Given the description of an element on the screen output the (x, y) to click on. 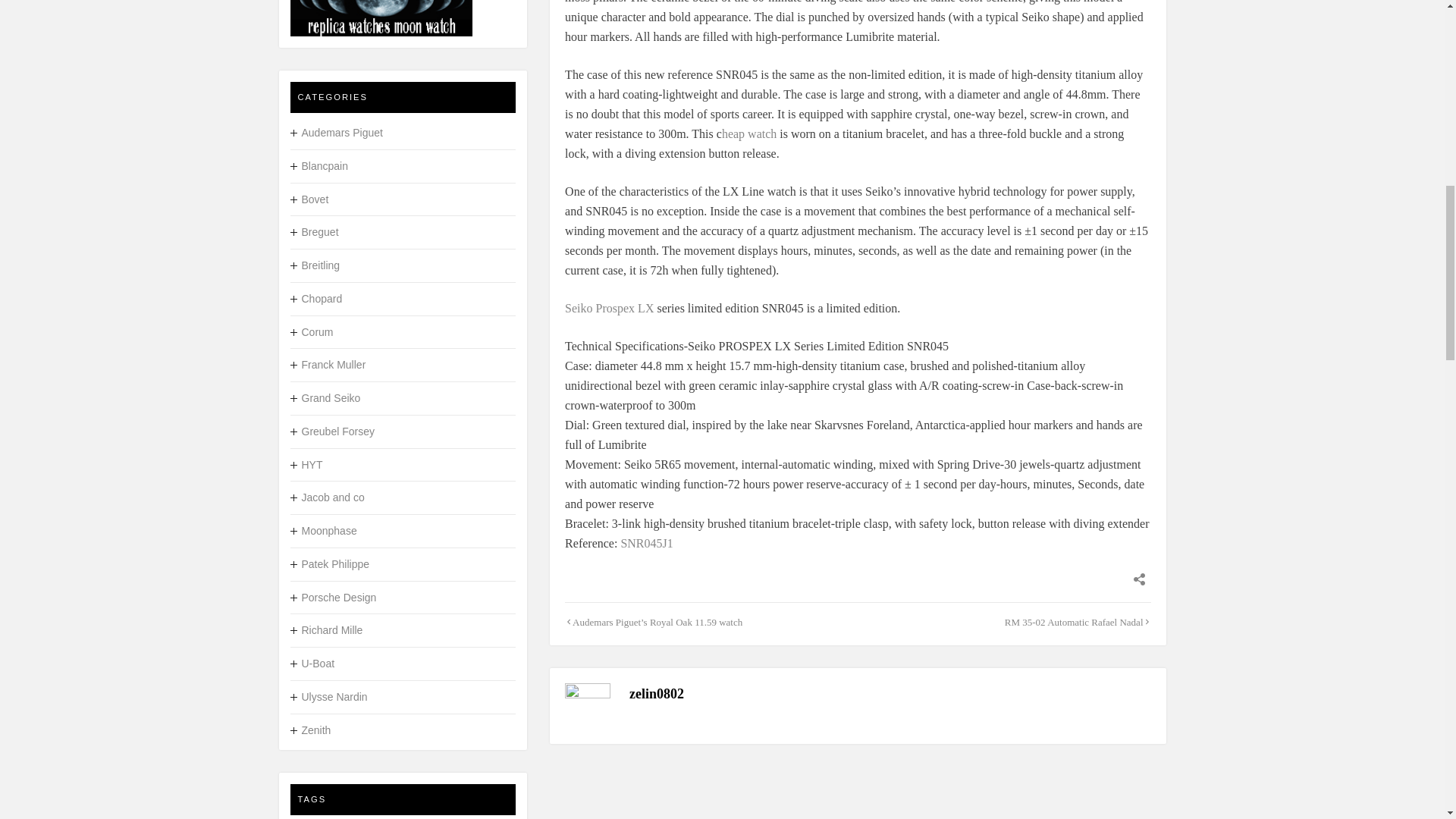
RM 35-02 Automatic Rafael Nadal (1073, 621)
Seiko Prospex LX (610, 308)
SNR045J1 (646, 543)
heap watch (749, 133)
zelin0802 (656, 693)
